Given the description of an element on the screen output the (x, y) to click on. 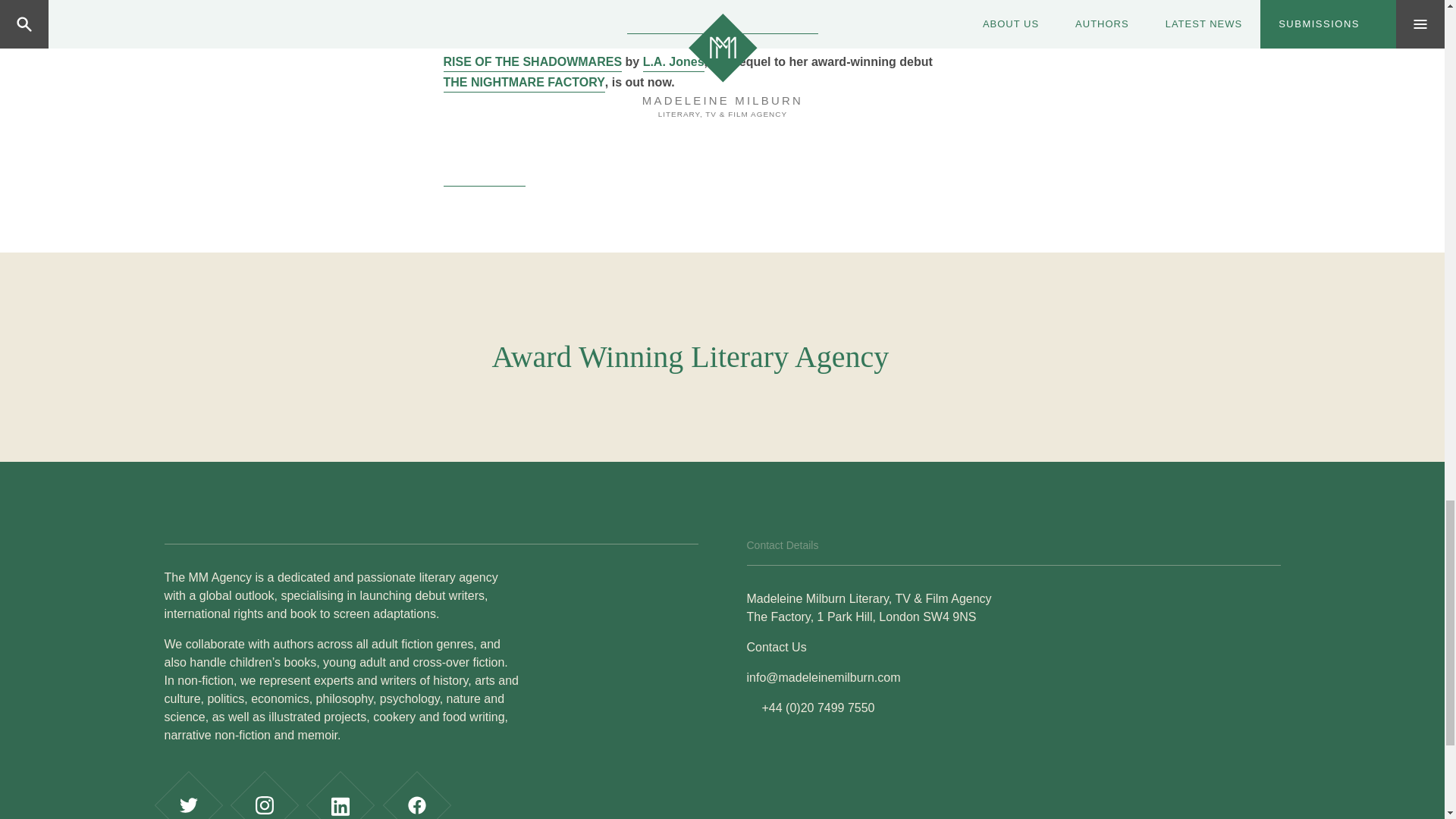
THE NIGHTMARE FACTORY (523, 82)
Contact Us (775, 646)
RISE OF THE SHADOWMARES (531, 61)
L.A. Jones (673, 61)
The Rise of the Shadowmares by L.A. Jones (483, 145)
